Given the description of an element on the screen output the (x, y) to click on. 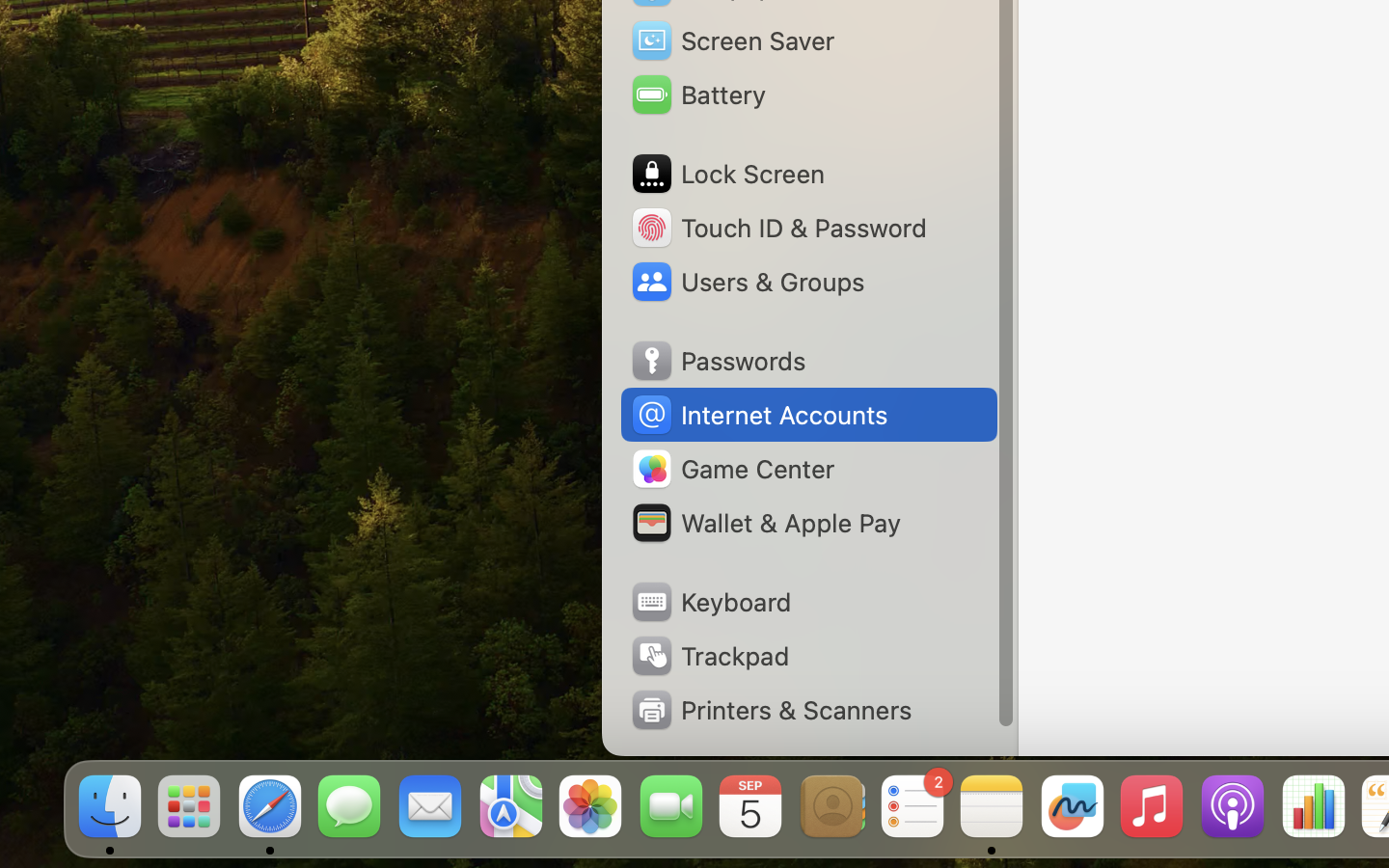
Internet Accounts Element type: AXStaticText (757, 414)
Lock Screen Element type: AXStaticText (726, 173)
Keyboard Element type: AXStaticText (709, 601)
Printers & Scanners Element type: AXStaticText (770, 709)
Users & Groups Element type: AXStaticText (746, 281)
